Given the description of an element on the screen output the (x, y) to click on. 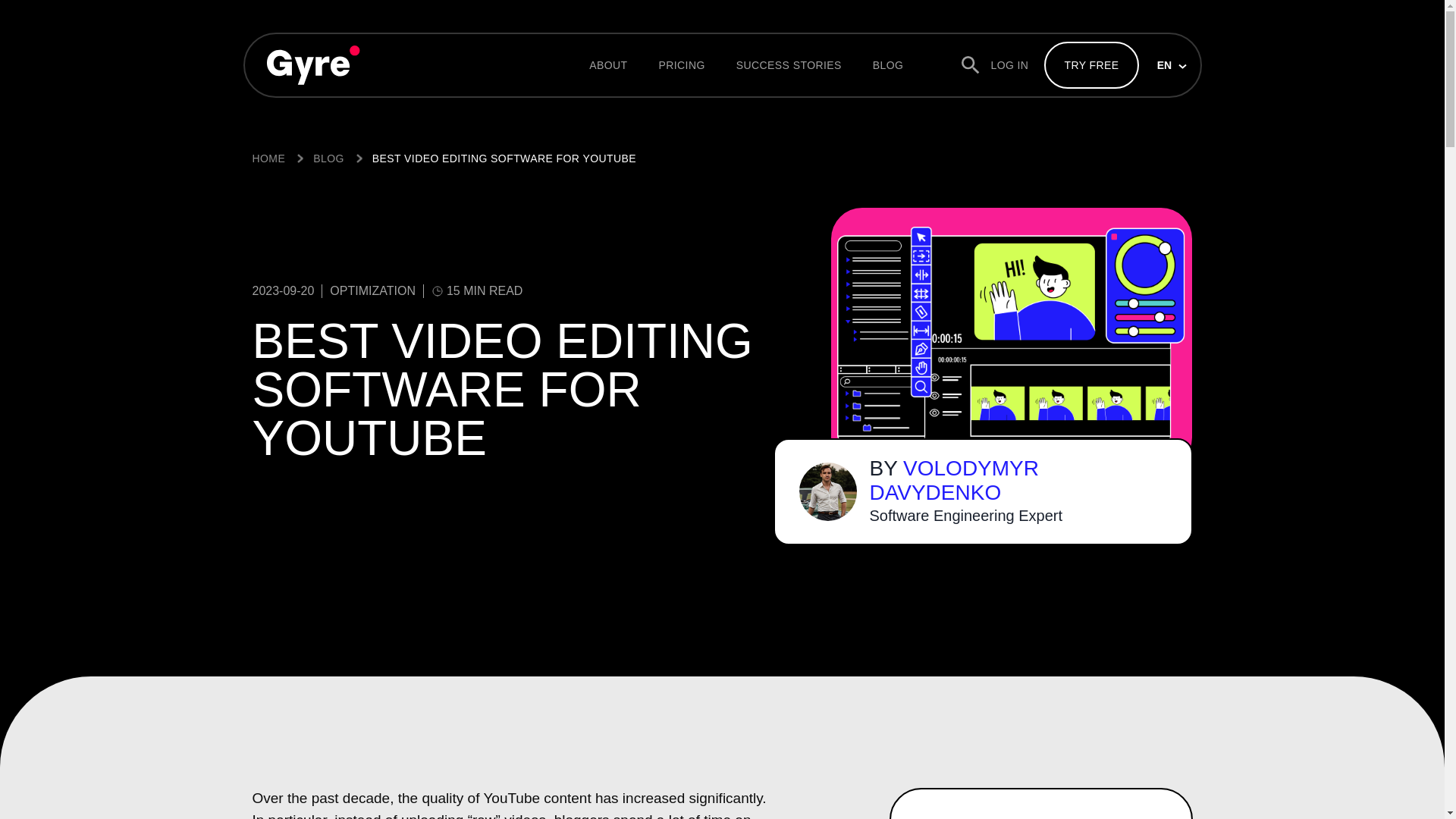
LOG IN (1008, 65)
HOME (268, 158)
PRICING (681, 65)
TRY FREE (1090, 64)
ABOUT (608, 65)
SUCCESS STORIES (788, 65)
BLOG (888, 65)
BLOG (328, 158)
